Given the description of an element on the screen output the (x, y) to click on. 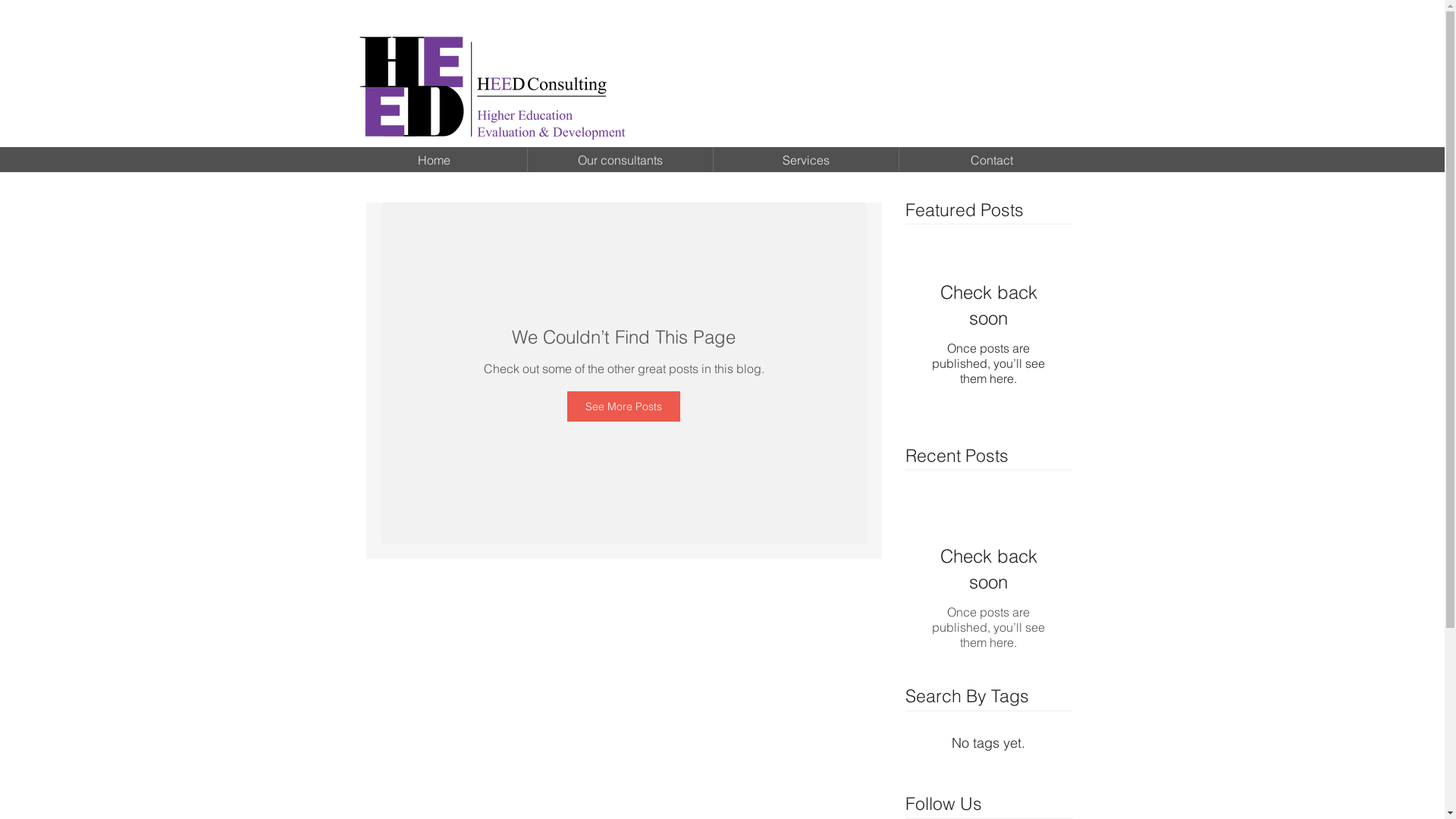
Contact Element type: text (991, 159)
Home Element type: text (434, 159)
Our consultants Element type: text (619, 159)
Services Element type: text (804, 159)
See More Posts Element type: text (623, 406)
